Given the description of an element on the screen output the (x, y) to click on. 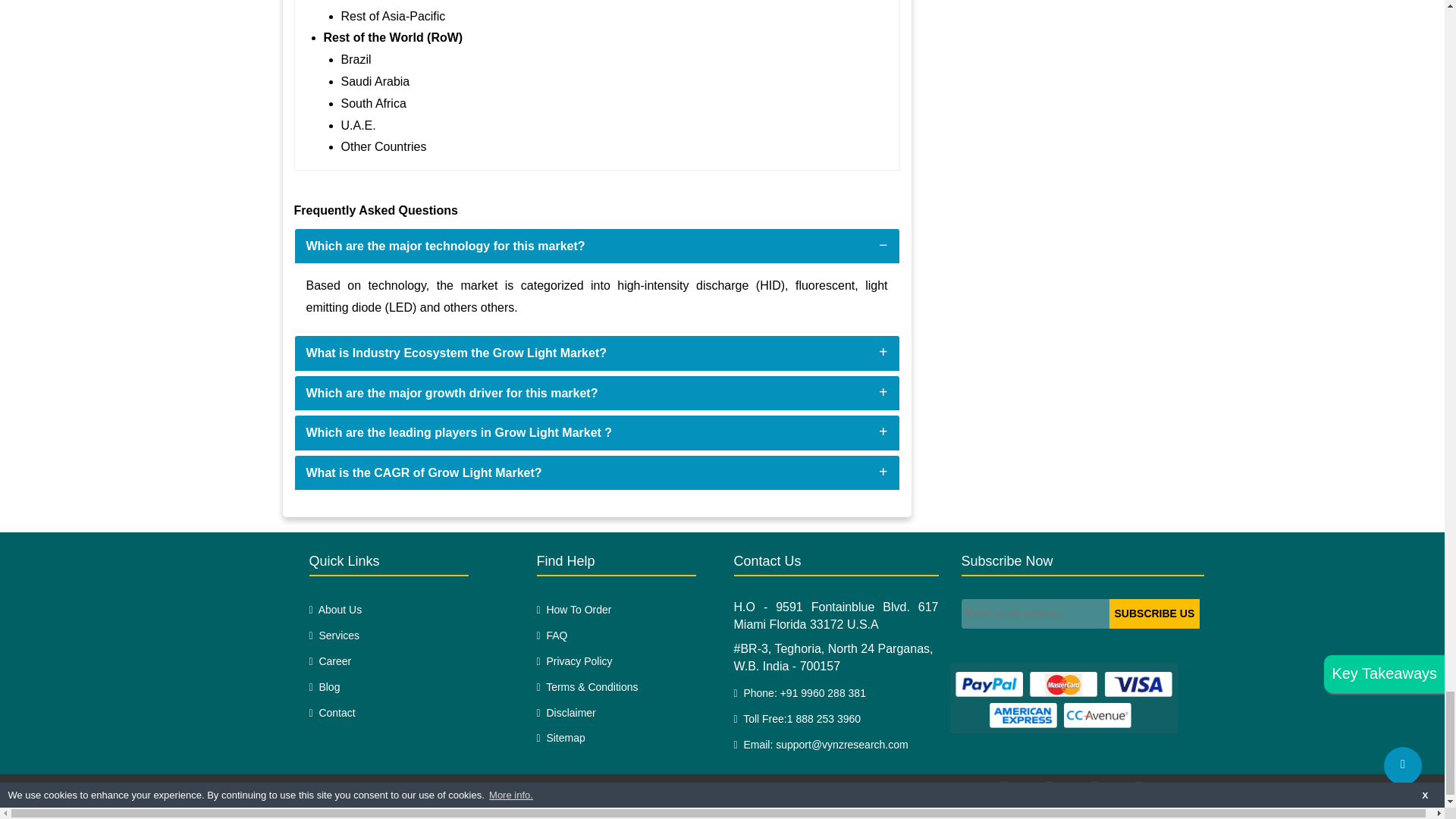
Which are the major growth driver for this market? (451, 392)
Which are the major technology for this market? (445, 245)
What is Industry Ecosystem the Grow Light Market? (456, 352)
What is the CAGR of Grow Light Market? (423, 472)
Paypal (1062, 697)
Which are the leading players in Grow Light Market ? (458, 431)
